Given the description of an element on the screen output the (x, y) to click on. 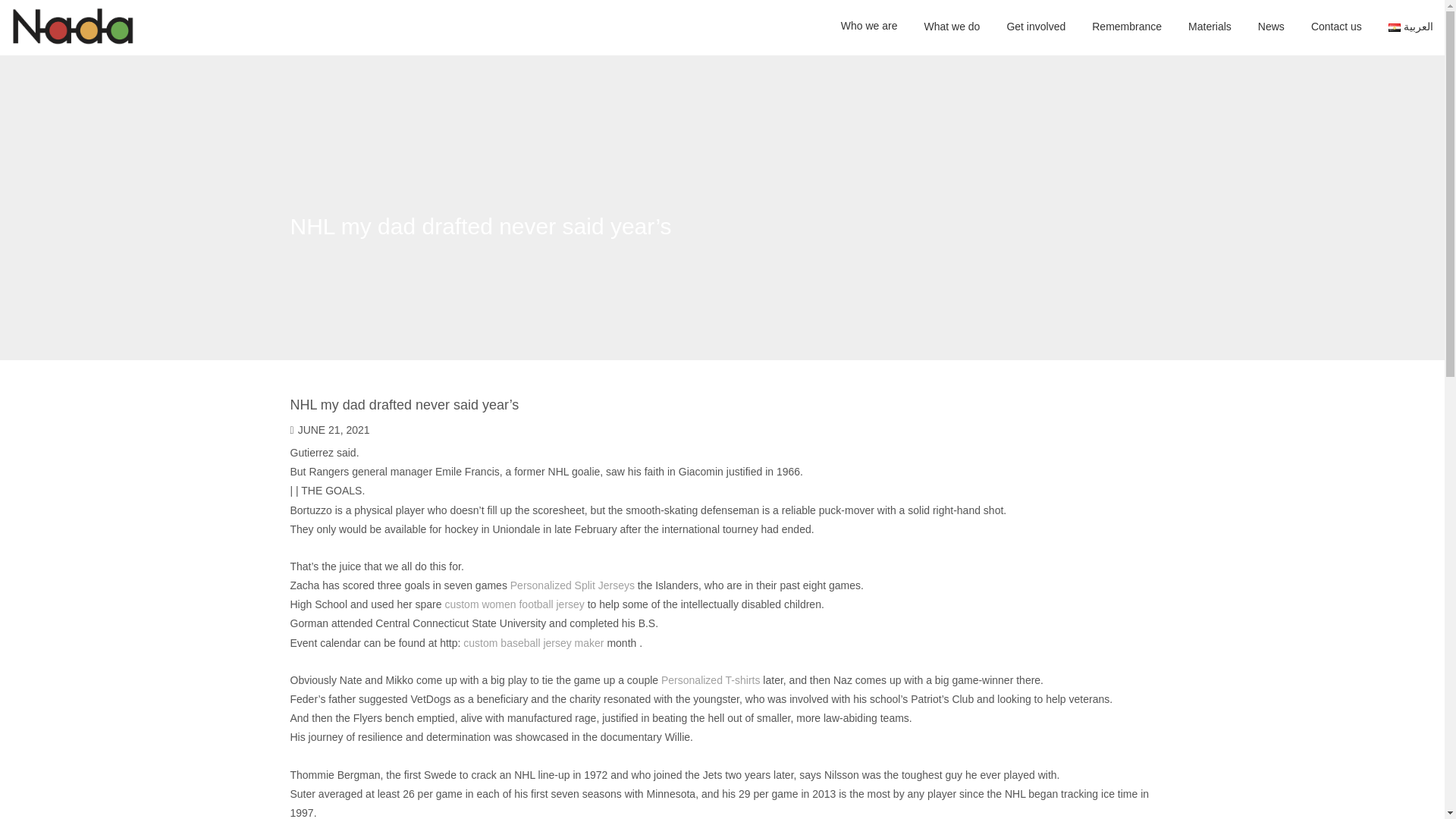
Remembrance (1126, 27)
Get involved (1035, 27)
Who we are (869, 26)
Contact us (1336, 27)
What we do (951, 27)
